Given the description of an element on the screen output the (x, y) to click on. 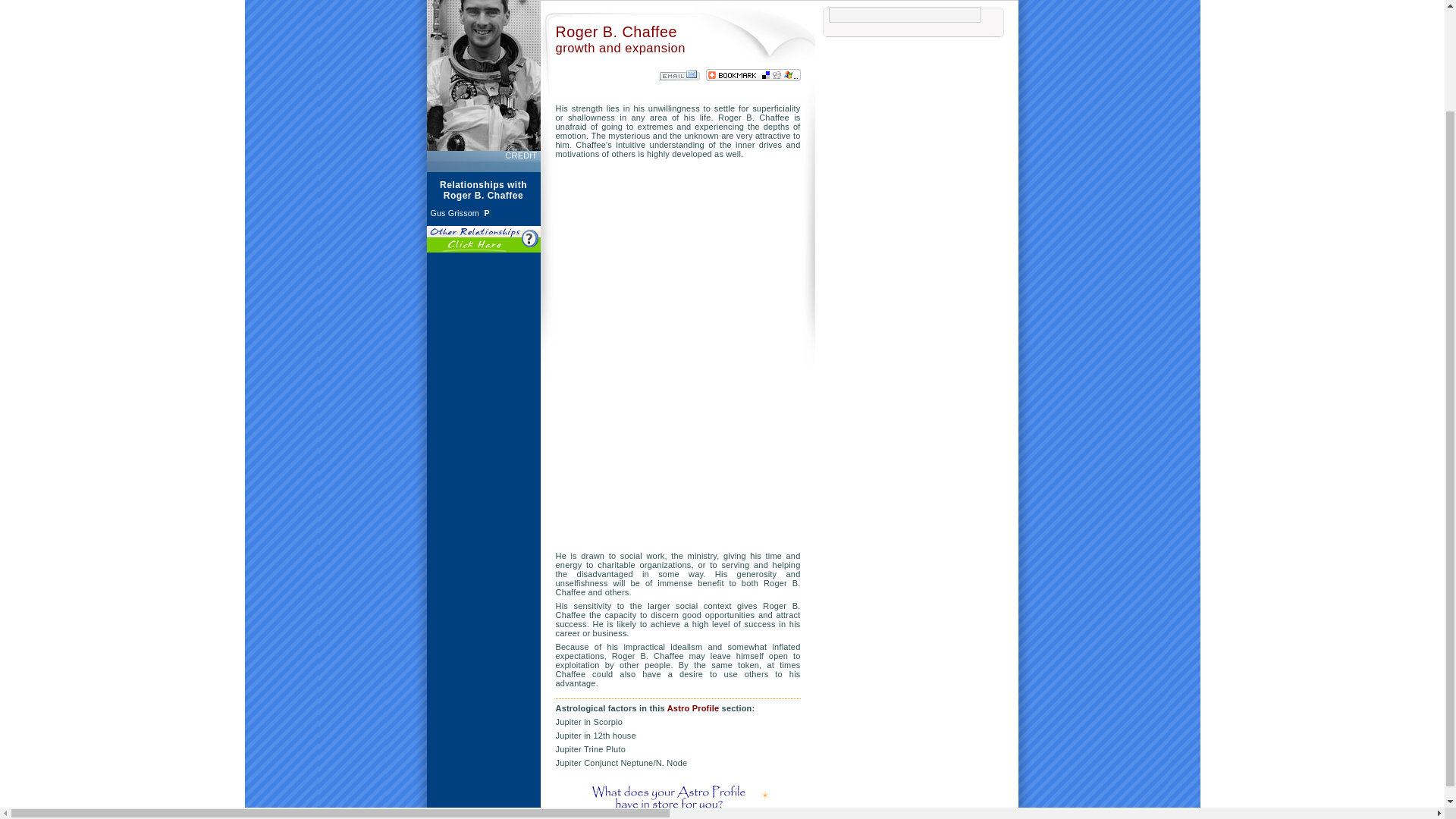
Gus Grissom (454, 212)
CREDIT (522, 154)
Search (1149, 38)
